Given the description of an element on the screen output the (x, y) to click on. 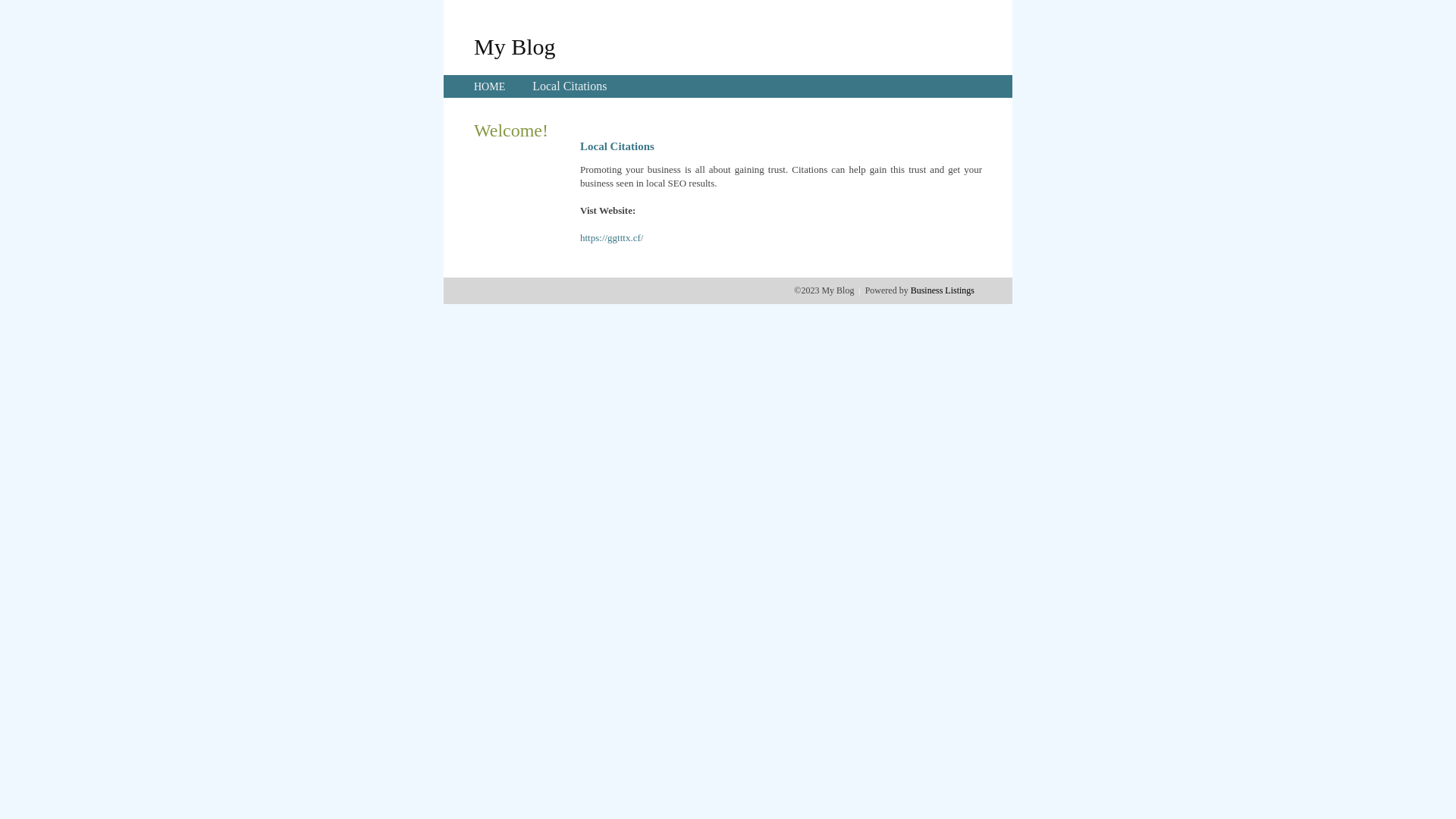
My Blog Element type: text (514, 46)
Business Listings Element type: text (942, 290)
HOME Element type: text (489, 86)
https://ggtttx.cf/ Element type: text (611, 237)
Local Citations Element type: text (569, 85)
